Given the description of an element on the screen output the (x, y) to click on. 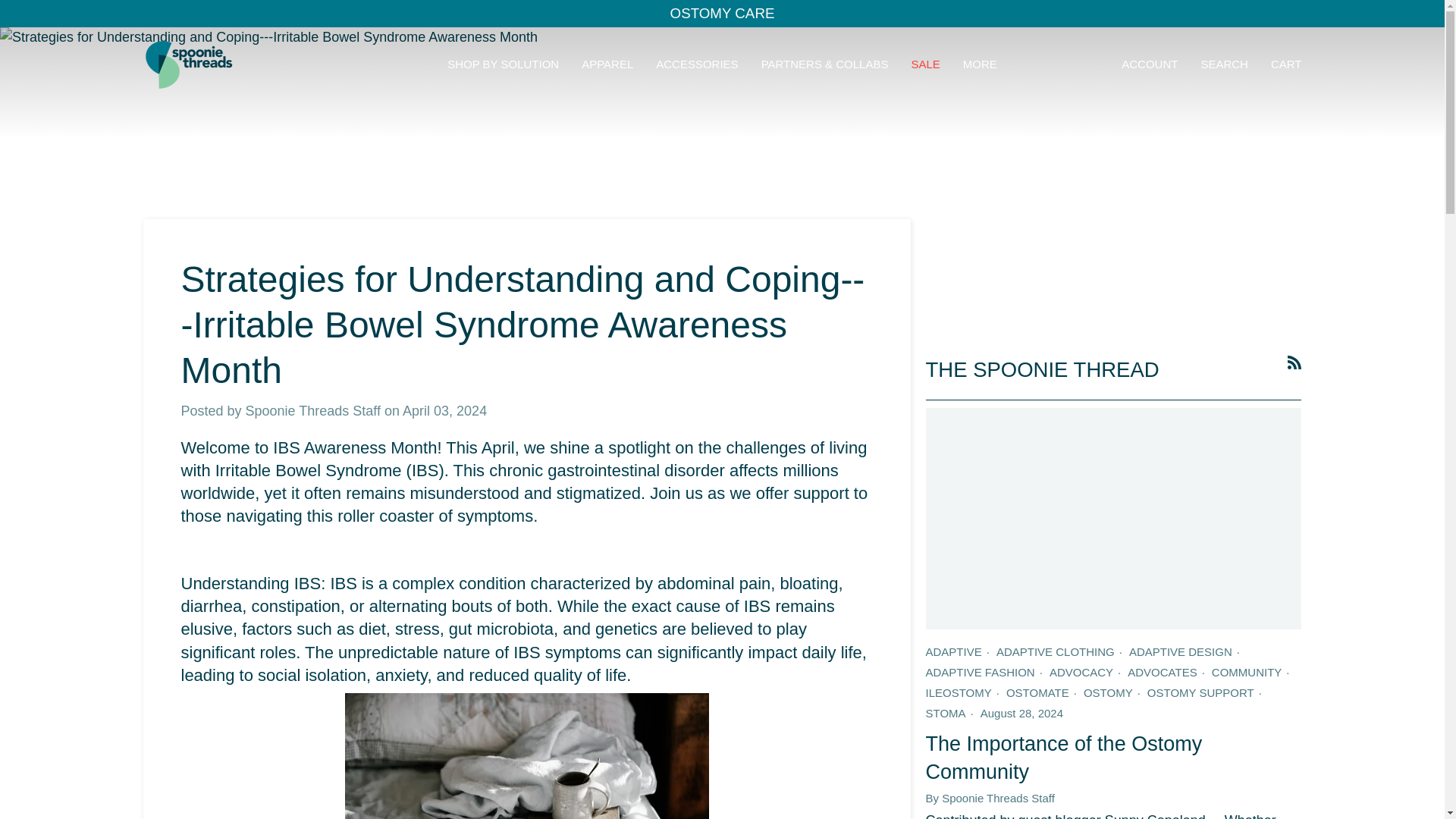
SpoonieThreads RSS (1294, 362)
SEARCH (1224, 64)
ACCOUNT (1149, 64)
APPAREL (607, 64)
ACCESSORIES (697, 64)
SHOP BY SOLUTION (502, 64)
